Given the description of an element on the screen output the (x, y) to click on. 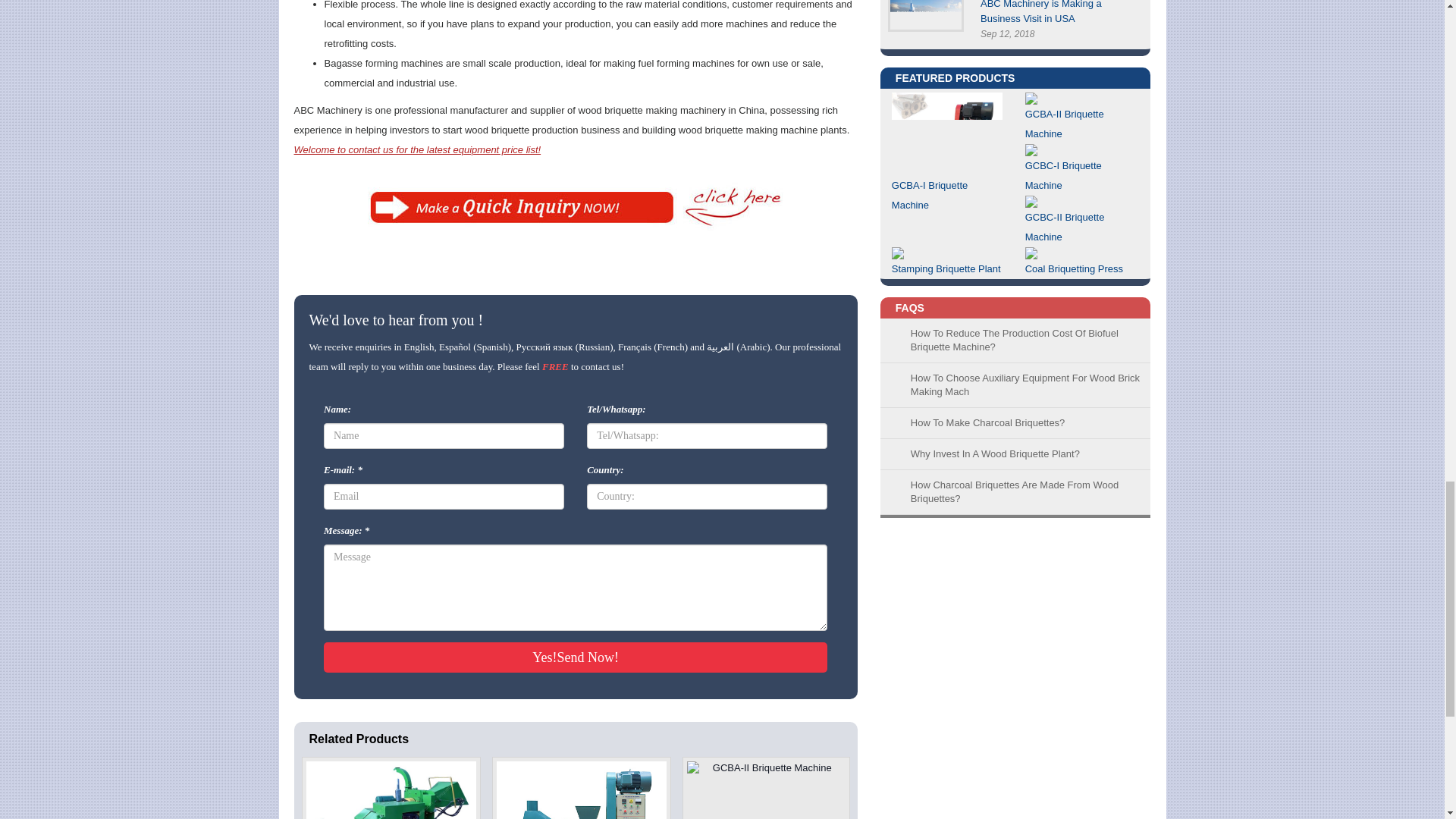
GCBA-II Briquette Machine (766, 787)
Yes!Send Now! (575, 657)
Yes!Send Now! (575, 657)
GCBC-IIA Briquette Machine (581, 787)
Wood Chipper (390, 787)
